Given the description of an element on the screen output the (x, y) to click on. 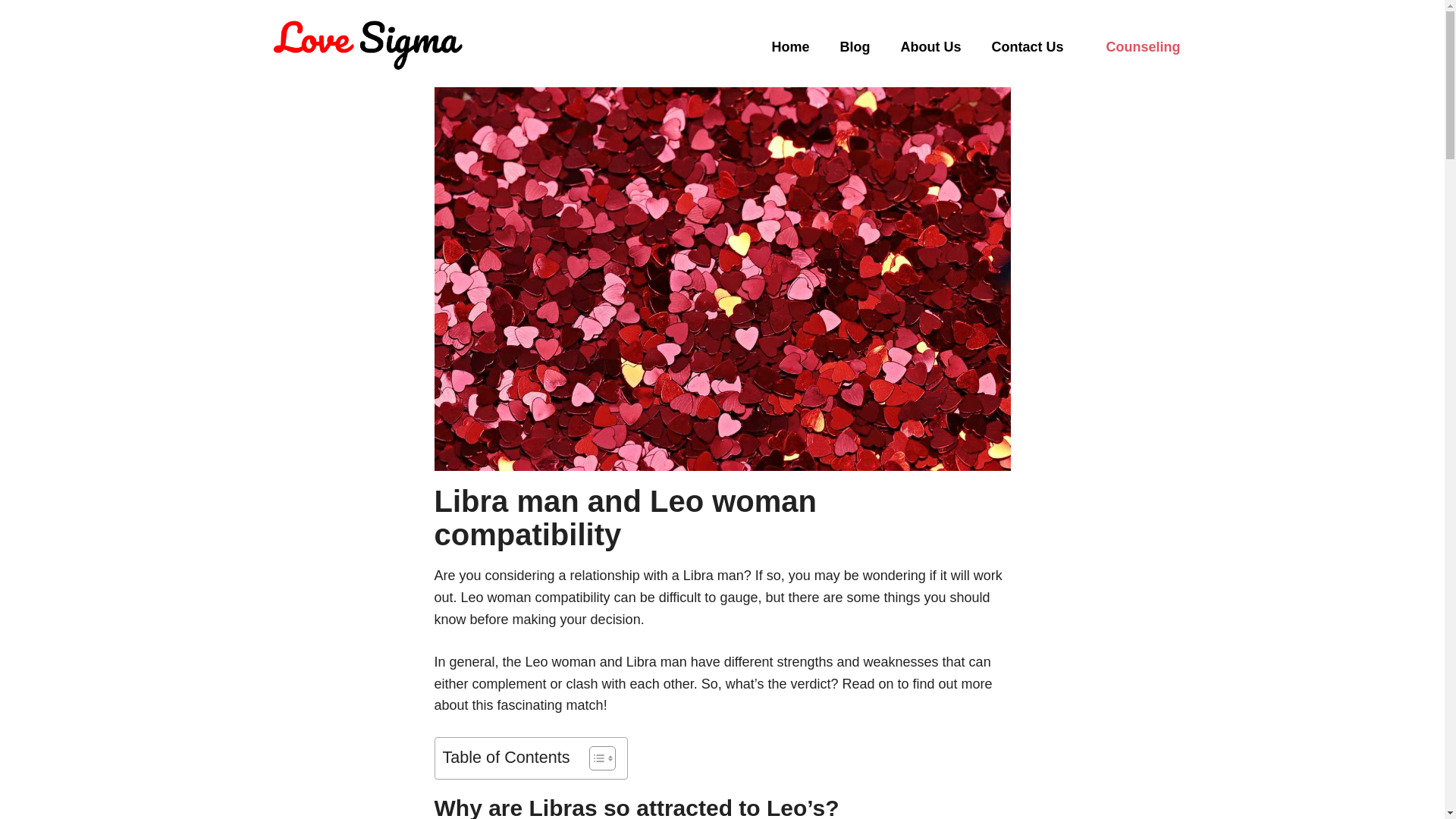
Love Sigma (365, 46)
Contact Us (1026, 46)
Blog (854, 46)
Love Sigma (365, 46)
About Us (930, 46)
Home (789, 46)
Counseling (1142, 47)
